Given the description of an element on the screen output the (x, y) to click on. 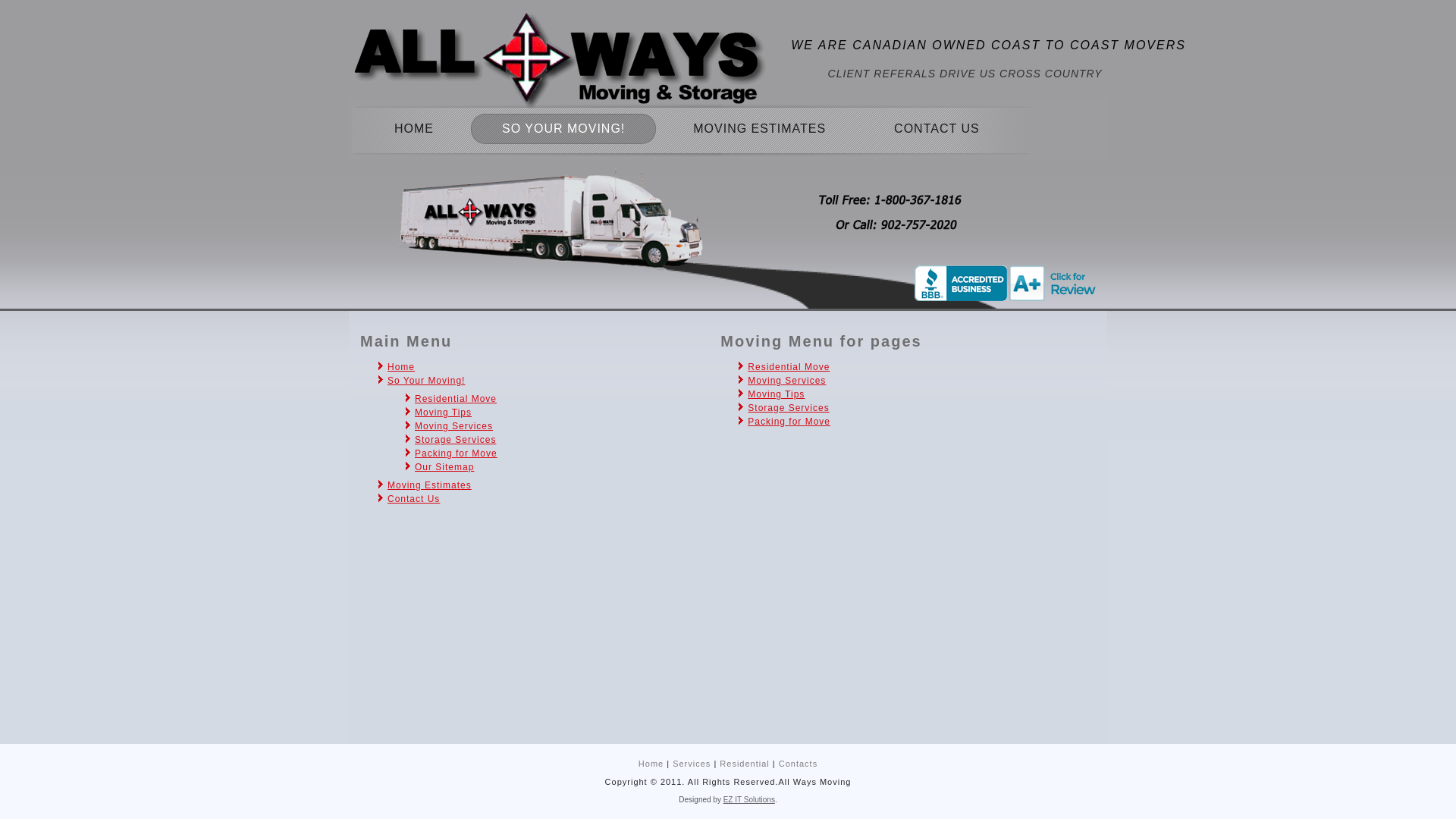
Home Element type: text (400, 366)
So Your Moving! Element type: text (425, 380)
Contacts Element type: text (797, 763)
Storage Services Element type: text (787, 407)
Moving Tips Element type: text (775, 394)
Home Element type: text (650, 763)
Moving Tips Element type: text (442, 412)
EZ IT Solutions Element type: text (749, 799)
Residential Move Element type: text (455, 398)
CONTACT US Element type: text (936, 128)
MOVING ESTIMATES Element type: text (759, 128)
Contact Us Element type: text (413, 498)
WE ARE CANADIAN OWNED COAST TO COAST MOVERS Element type: text (988, 44)
Moving Estimates Element type: text (429, 485)
Moving Services Element type: text (453, 425)
Storage Services Element type: text (454, 439)
HOME Element type: text (413, 128)
SO YOUR MOVING! Element type: text (562, 128)
Services Element type: text (691, 763)
Residential Move Element type: text (788, 366)
Packing for Move Element type: text (788, 421)
Residential Element type: text (743, 763)
Our Sitemap Element type: text (443, 466)
Packing for Move Element type: text (455, 453)
Moving Services Element type: text (786, 380)
